Given the description of an element on the screen output the (x, y) to click on. 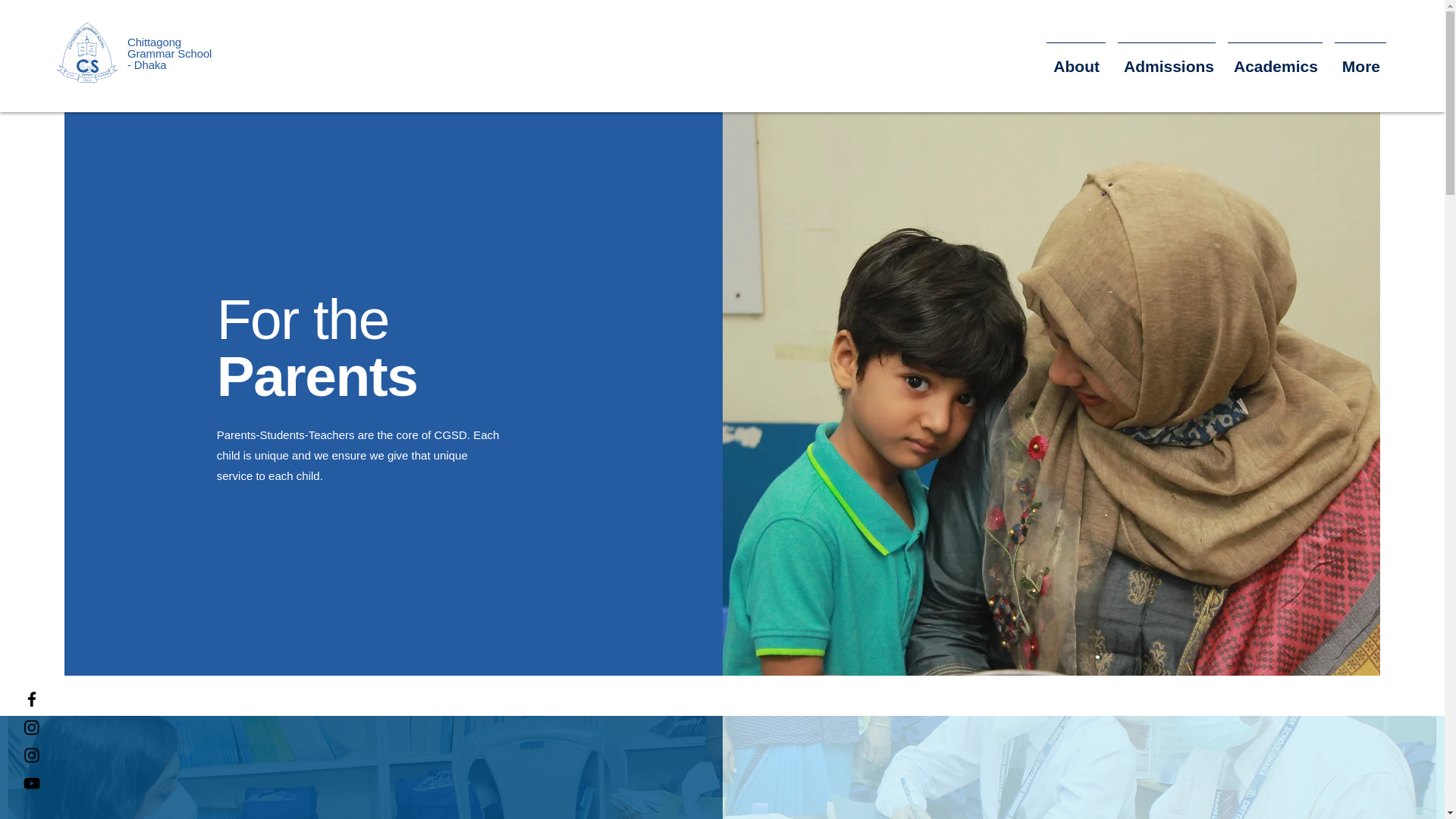
About (1076, 59)
Admissions (1166, 59)
Academics (1274, 59)
Chittagong Grammar School - Dhaka (169, 53)
